Given the description of an element on the screen output the (x, y) to click on. 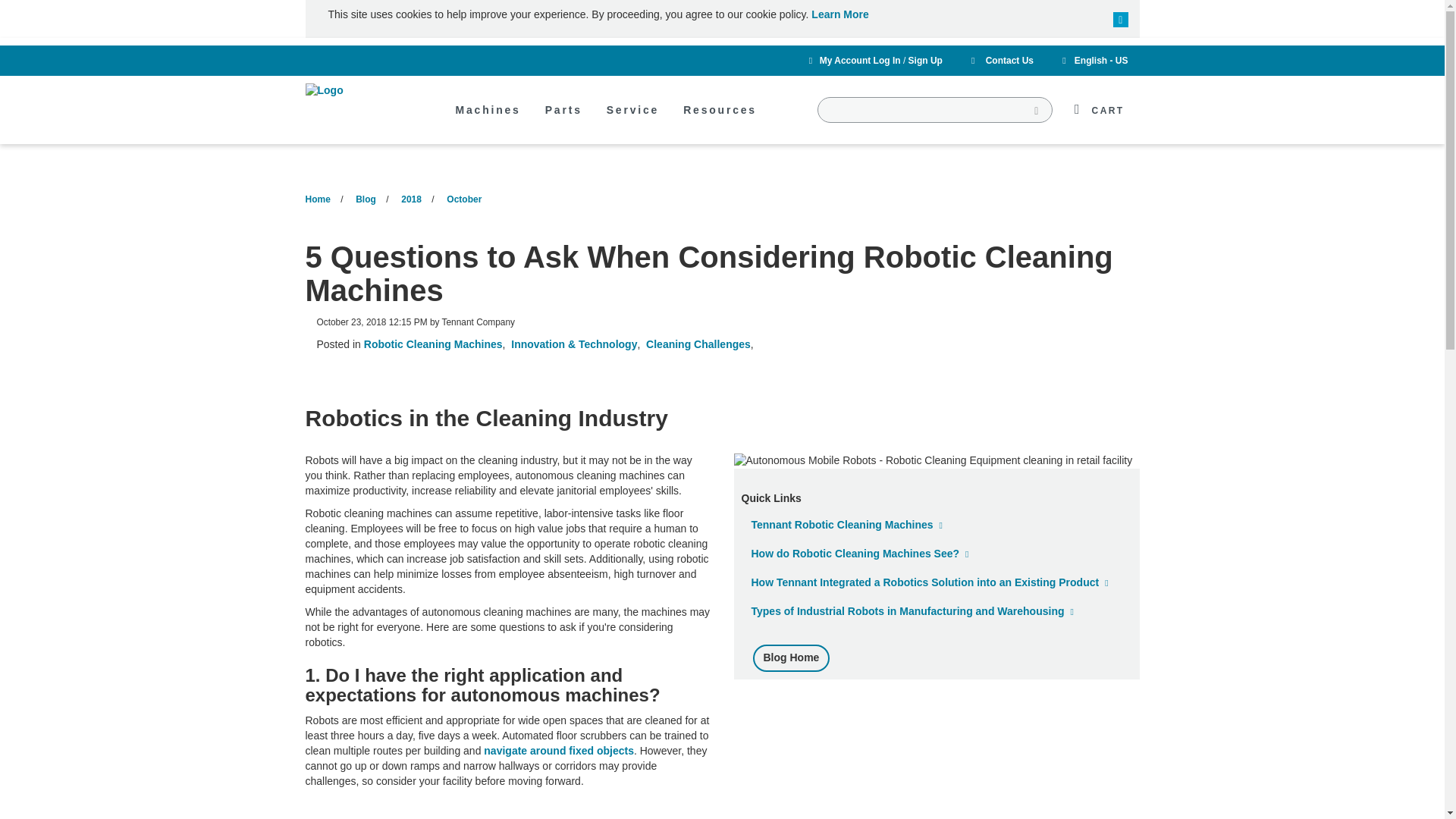
Contact Us (1000, 60)
My Account Log In (860, 60)
Learn More (838, 14)
English - US (1092, 60)
Machines (486, 121)
Sign Up (925, 60)
Blog Home (790, 657)
Logo (361, 90)
